Given the description of an element on the screen output the (x, y) to click on. 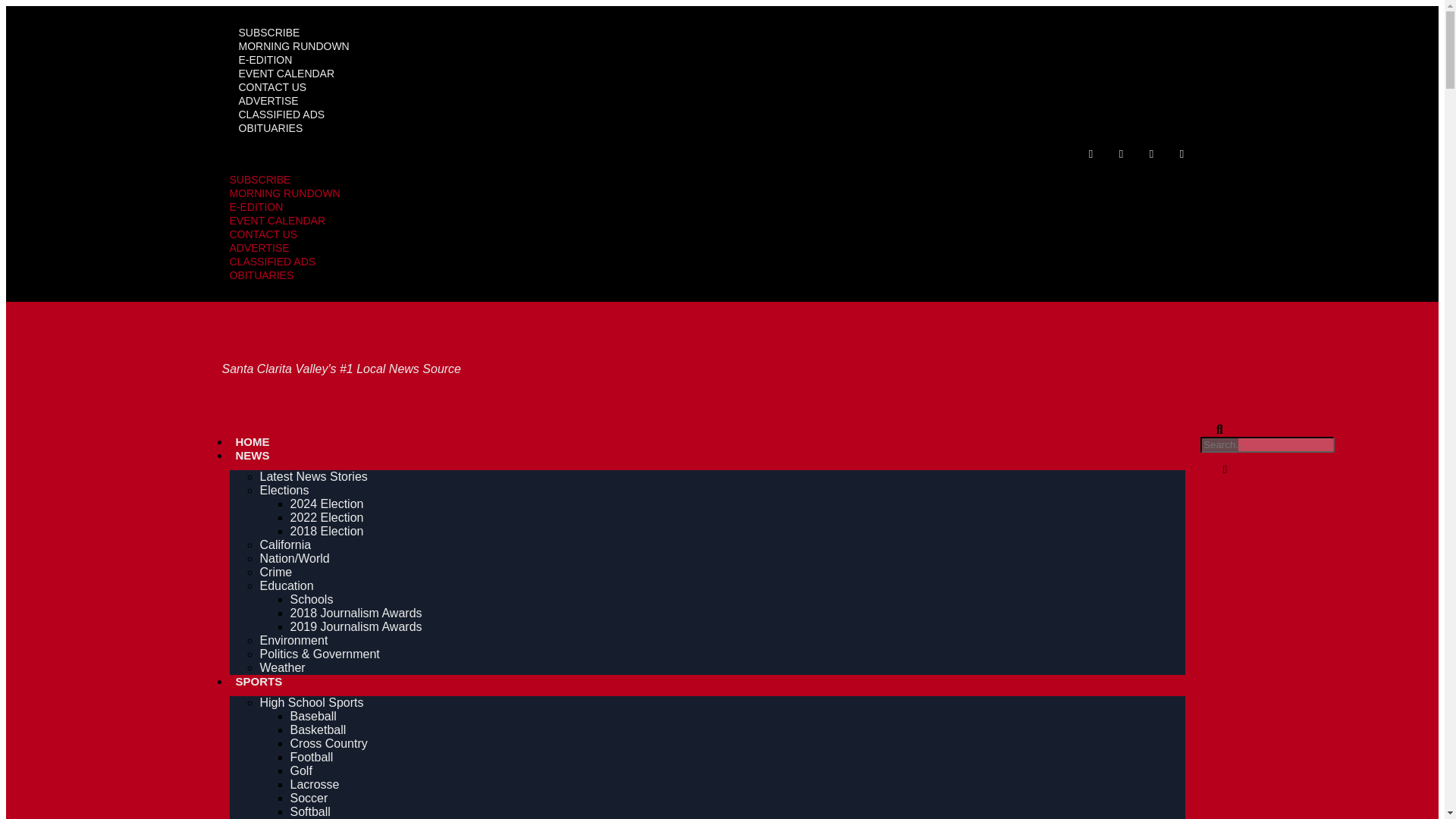
2022 Election (325, 517)
SPORTS (258, 681)
E-EDITION (255, 206)
Crime (275, 571)
SUBSCRIBE (268, 32)
MORNING RUNDOWN (283, 193)
ADVERTISE (258, 247)
Weather (281, 667)
2018 Journalism Awards (355, 612)
OBITUARIES (261, 275)
CLASSIFIED ADS (271, 261)
CLASSIFIED ADS (280, 114)
SUBSCRIBE (258, 179)
Elections (283, 490)
MORNING RUNDOWN (293, 46)
